Given the description of an element on the screen output the (x, y) to click on. 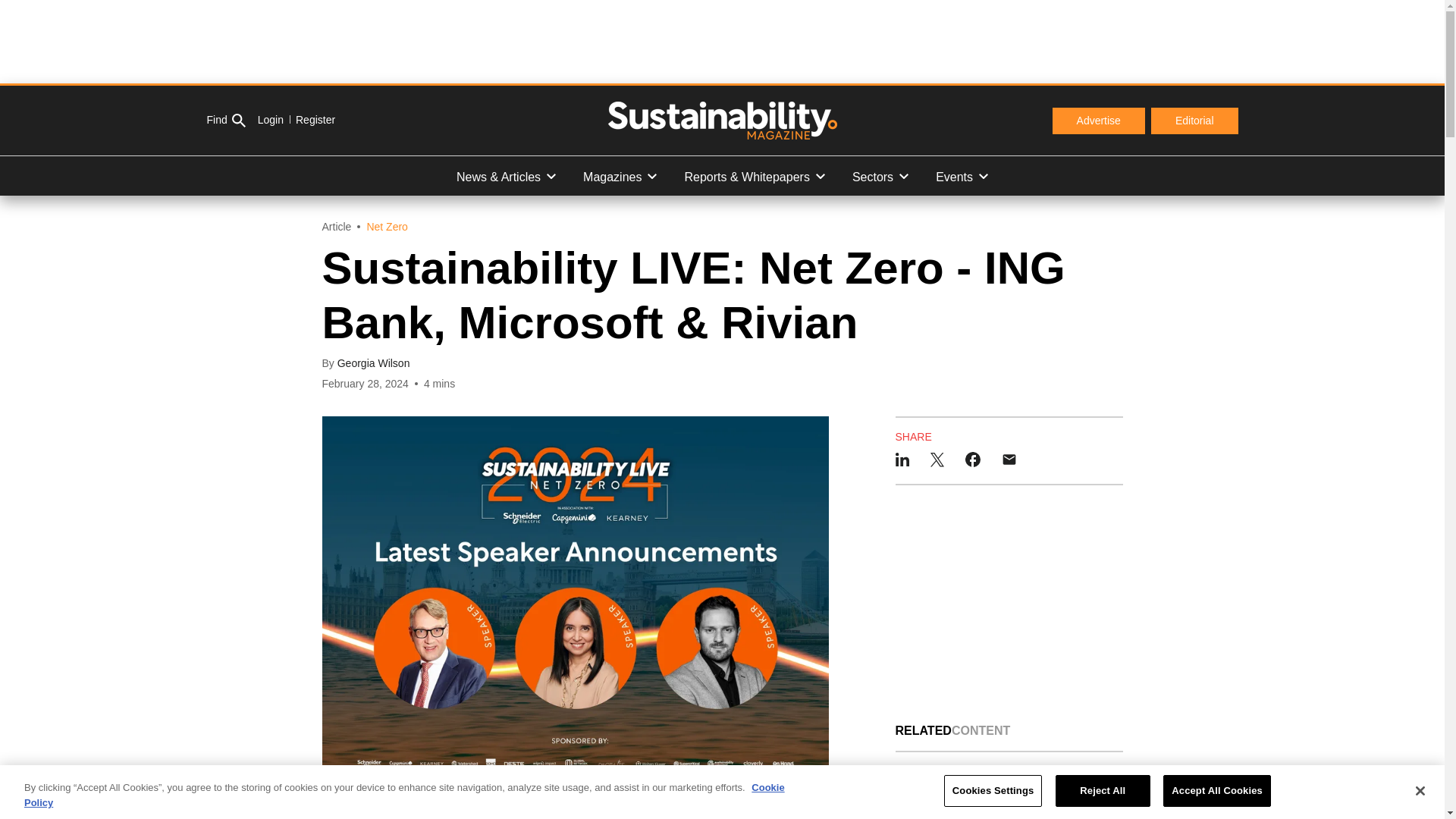
Sectors (879, 175)
3rd party ad content (721, 41)
Advertise (1098, 121)
Login (270, 120)
Magazines (619, 175)
3rd party ad content (1008, 604)
Events (961, 175)
Editorial (1195, 121)
Find (225, 120)
Register (308, 120)
